Given the description of an element on the screen output the (x, y) to click on. 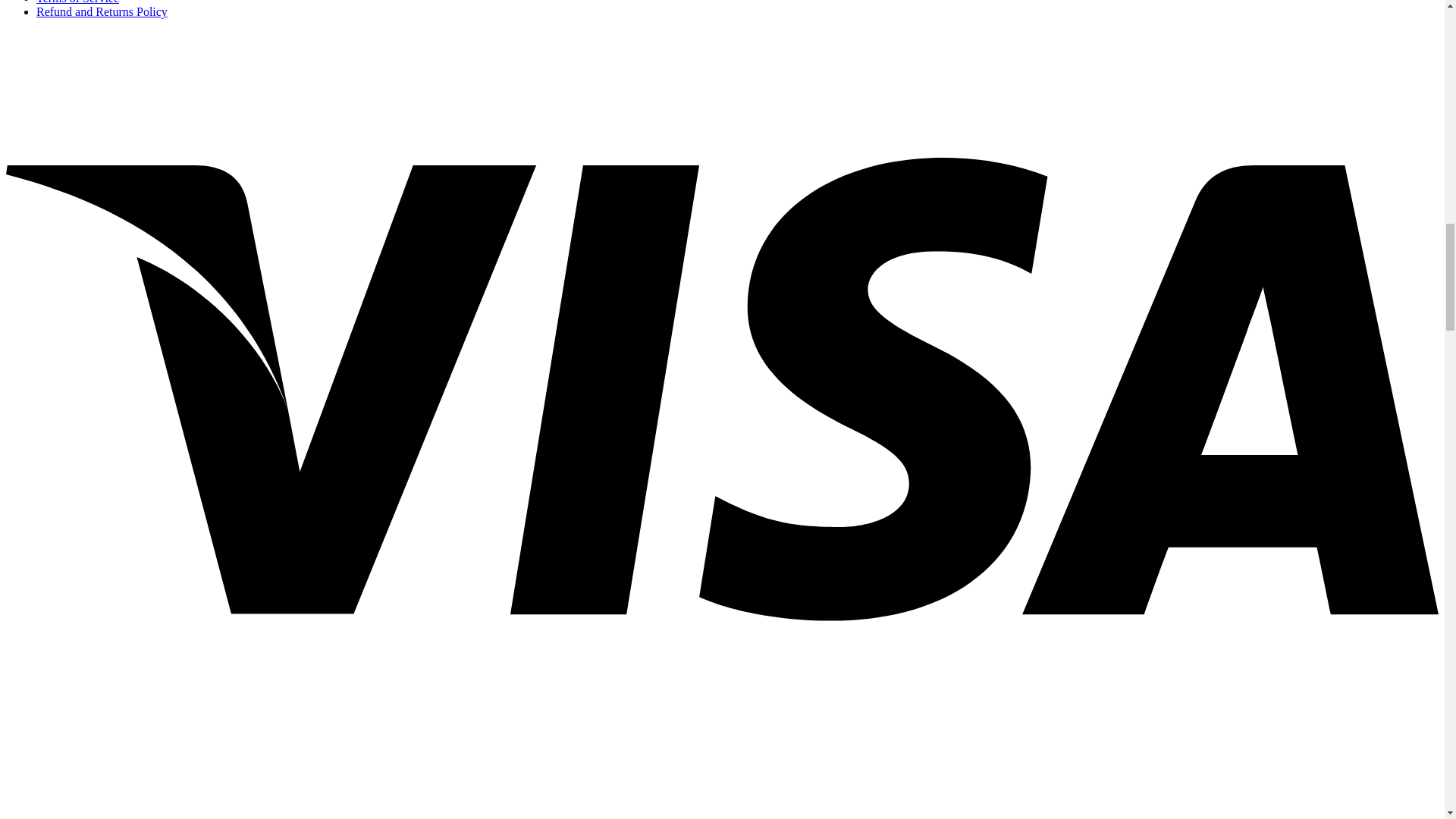
Refund and Returns Policy (101, 11)
Terms of Service (77, 2)
